Given the description of an element on the screen output the (x, y) to click on. 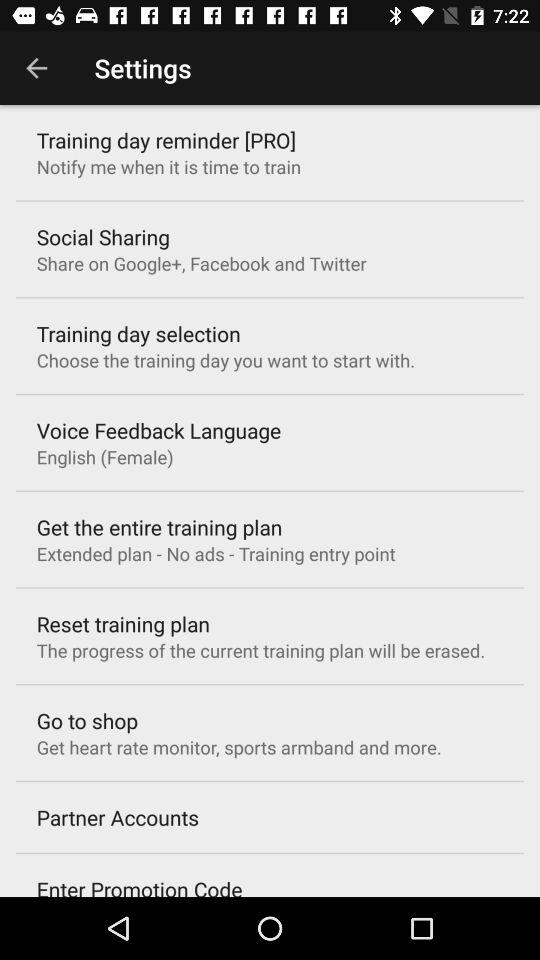
tap item above the reset training plan icon (215, 553)
